Given the description of an element on the screen output the (x, y) to click on. 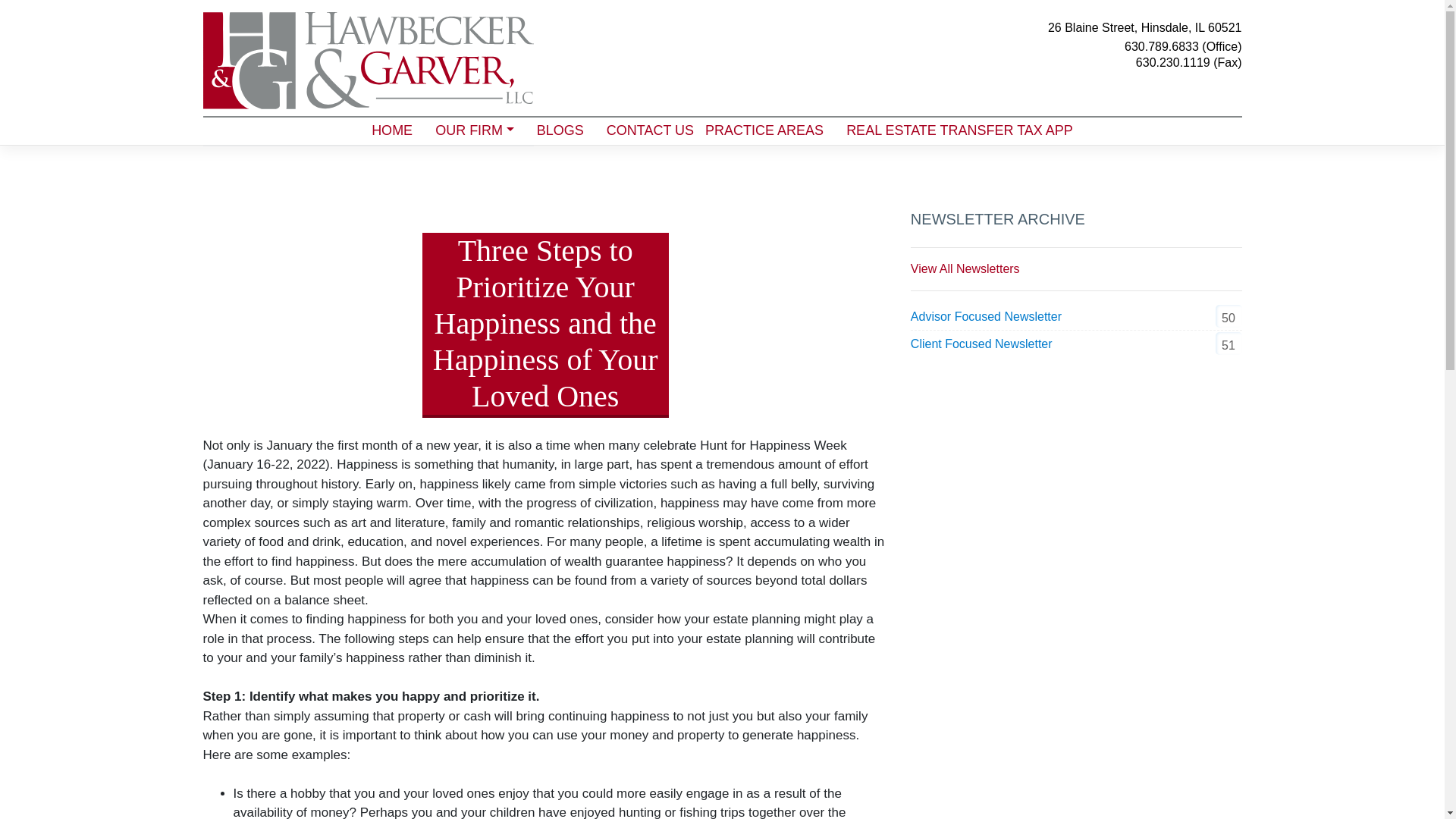
Home (391, 130)
BLOGS (560, 130)
REAL ESTATE TRANSFER TAX APP (959, 130)
Real Estate Transfer Tax App (959, 130)
PRACTICE AREAS (764, 130)
Our Firm (474, 130)
Practice Areas (764, 130)
Blogs (560, 130)
OUR FIRM (474, 130)
Contact Us (644, 130)
